Given the description of an element on the screen output the (x, y) to click on. 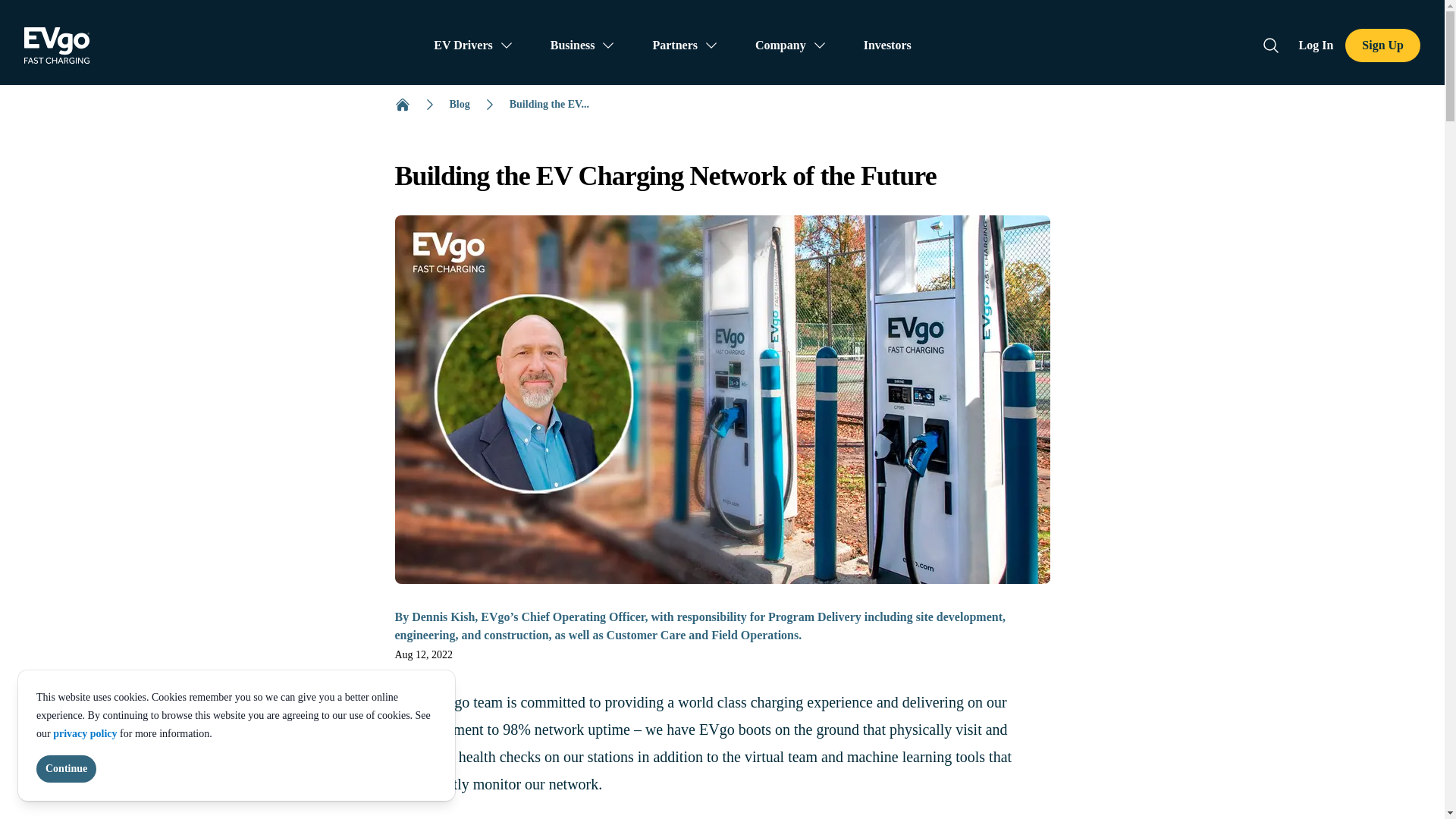
Business (583, 45)
Blog (458, 104)
Partners (685, 45)
Log In (1315, 45)
Home (401, 104)
Company (791, 45)
EV Drivers (473, 45)
Search (1270, 45)
Investors (887, 45)
EVgo Fast Charging (56, 45)
